Given the description of an element on the screen output the (x, y) to click on. 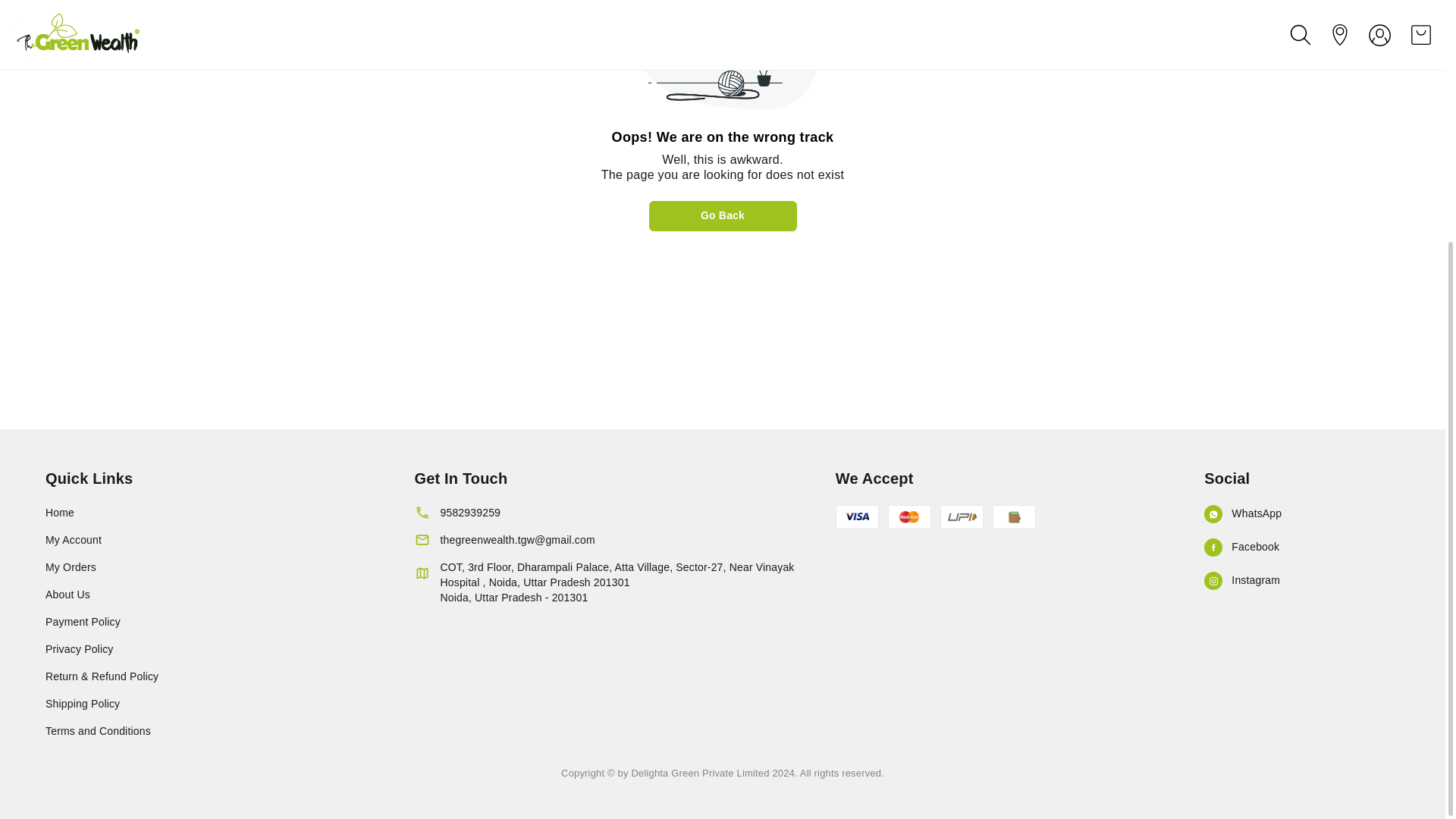
Home (214, 512)
Instagram (1301, 580)
Terms and Conditions (214, 730)
WhatsApp (1301, 514)
About Us (214, 594)
Privacy Policy (214, 648)
Facebook (1301, 547)
Go Back (722, 215)
Payment Policy (214, 621)
